Given the description of an element on the screen output the (x, y) to click on. 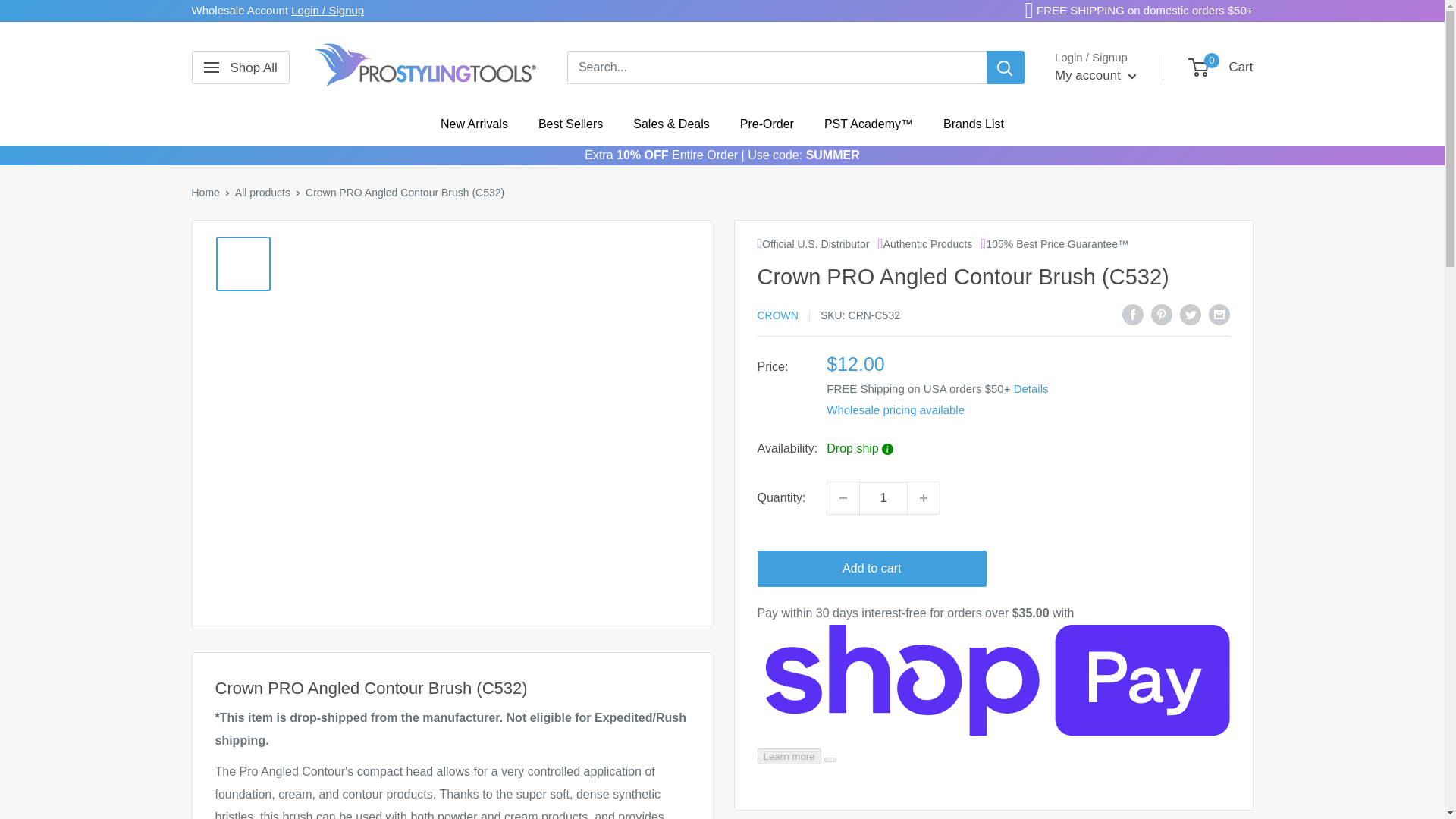
Increase quantity by 1 (923, 498)
1 (883, 498)
Decrease quantity by 1 (843, 498)
